Given the description of an element on the screen output the (x, y) to click on. 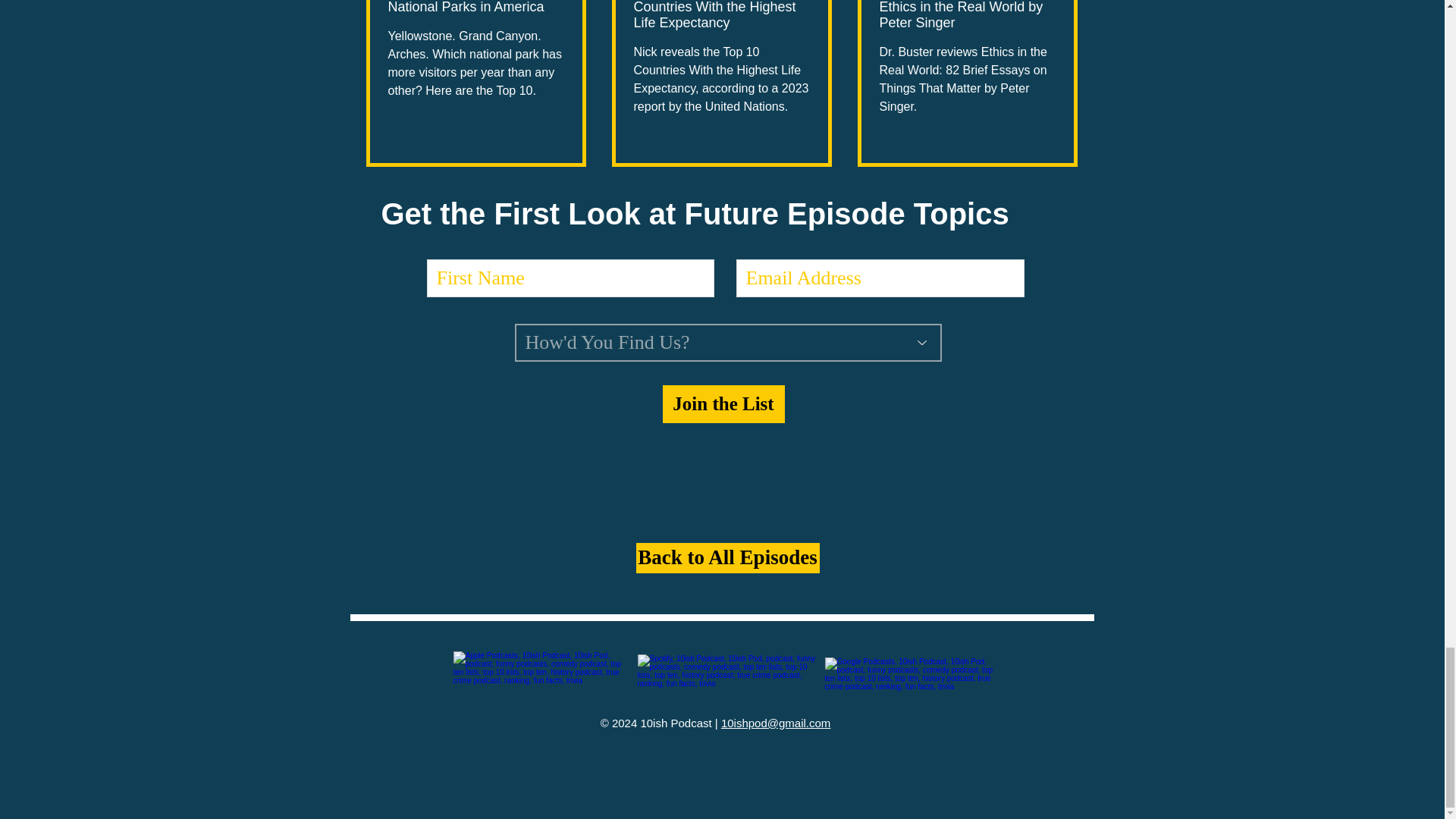
Ep. 270: Most Visited National Parks in America (476, 7)
Back to All Episodes (726, 557)
Join the List (723, 403)
